Given the description of an element on the screen output the (x, y) to click on. 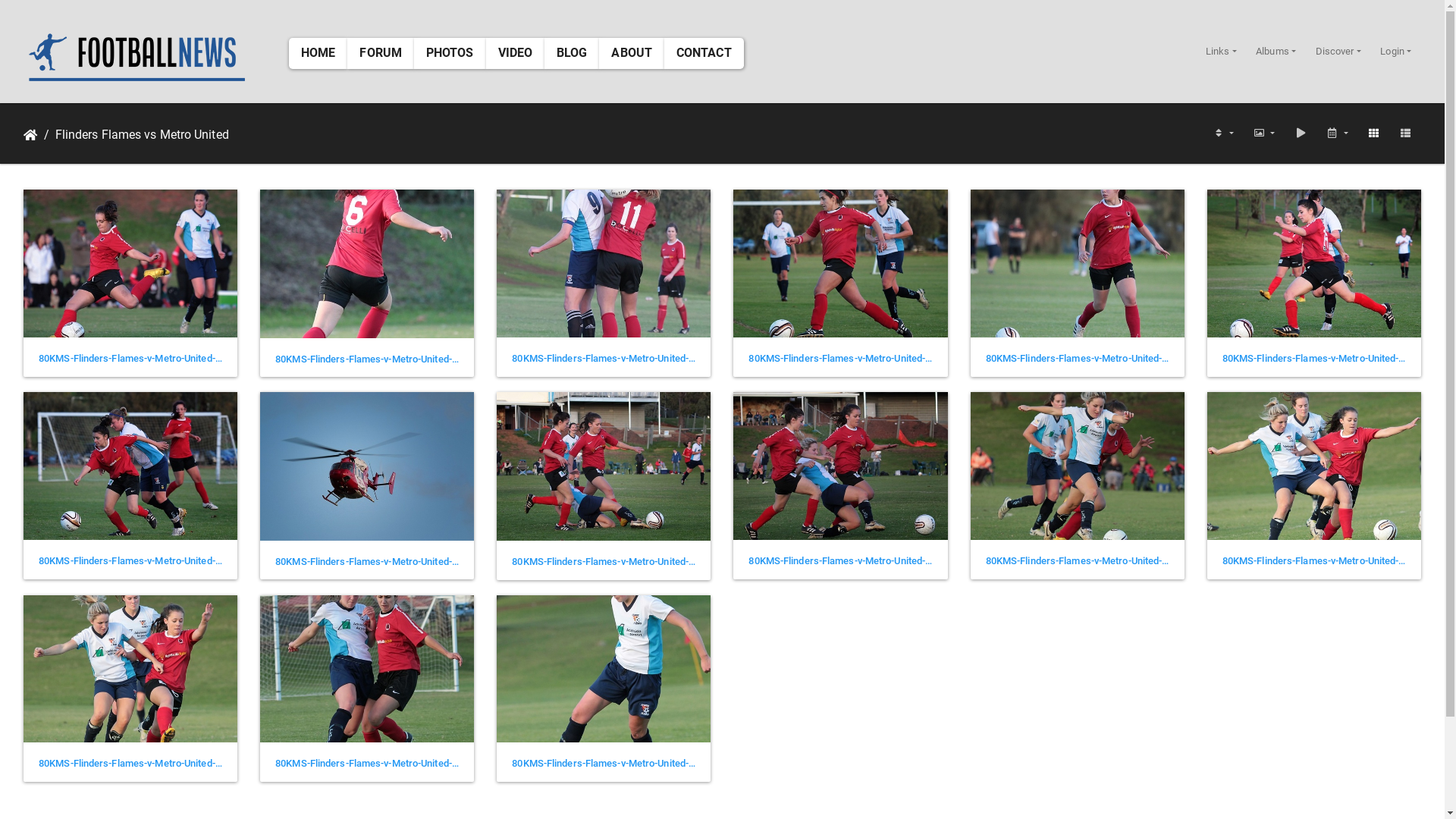
CONTACT Element type: text (703, 52)
Flinders Flames vs Metro United Element type: text (133, 134)
ABOUT Element type: text (631, 52)
80KMS-Flinders-Flames-v-Metro-United-11466.jpg (396 visits) Element type: hover (1077, 263)
Albums Element type: text (1275, 51)
80KMS-Flinders-Flames-v-Metro-United-11466.jpg Element type: text (1077, 358)
80KMS-Flinders-Flames-v-Metro-United-11306.jpg Element type: text (130, 763)
FORUM Element type: text (380, 52)
Photo sizes Element type: hover (1263, 133)
80KMS-Flinders-Flames-v-Metro-United-11562.jpg Element type: text (130, 358)
Sort order Element type: hover (1222, 133)
80KMS-Flinders-Flames-v-Metro-United-11410.jpg Element type: text (130, 561)
List view Element type: hover (1405, 133)
Login Element type: text (1396, 51)
Links Element type: text (1220, 51)
Calendar Element type: hover (1336, 133)
80KMS-Flinders-Flames-v-Metro-United-11274.jpg (373 visits) Element type: hover (603, 669)
80KMS-Flinders-Flames-v-Metro-United-11307.jpg (395 visits) Element type: hover (1314, 465)
80KMS-Flinders-Flames-v-Metro-United-11506.jpg Element type: text (603, 358)
80KMS-Flinders-Flames-v-Metro-United-11410.jpg (382 visits) Element type: hover (130, 465)
80KMS-Flinders-Flames-v-Metro-United-11506.jpg (387 visits) Element type: hover (603, 263)
80KMS-Flinders-Flames-v-Metro-United-11562.jpg (448 visits) Element type: hover (130, 263)
80KMS-Flinders-Flames-v-Metro-United-11542.jpg Element type: text (366, 359)
BLOG Element type: text (571, 52)
80KMS-Flinders-Flames-v-Metro-United-11284.jpg Element type: text (366, 763)
Grid view Element type: hover (1373, 133)
80KMS-Flinders-Flames-v-Metro-United-11496.jpg (396 visits) Element type: hover (840, 263)
80KMS-Flinders-Flames-v-Metro-United-11284.jpg (374 visits) Element type: hover (366, 669)
80KMS-Flinders-Flames-v-Metro-United-11322.jpg (400 visits) Element type: hover (1077, 465)
80KMS-Flinders-Flames-v-Metro-United-11333.jpg (377 visits) Element type: hover (840, 465)
80KMS-Flinders-Flames-v-Metro-United-11542.jpg (368 visits) Element type: hover (366, 263)
slideshow Element type: hover (1300, 133)
80KMS-Flinders-Flames-v-Metro-United-11334.jpg (394 visits) Element type: hover (603, 466)
80KMS-Flinders-Flames-v-Metro-United-11334.jpg Element type: text (603, 561)
80KMS-Flinders-Flames-v-Metro-United-11333.jpg Element type: text (839, 561)
80KMS-Flinders-Flames-v-Metro-United-11366.jpg Element type: text (366, 561)
PHOTOS Element type: text (450, 52)
80KMS-Flinders-Flames-v-Metro-United-11366.jpg (407 visits) Element type: hover (366, 465)
VIDEO Element type: text (515, 52)
80KMS-Flinders-Flames-v-Metro-United-11496.jpg Element type: text (839, 358)
80KMS-Flinders-Flames-v-Metro-United-11306.jpg (393 visits) Element type: hover (130, 669)
80KMS-Flinders-Flames-v-Metro-United-11428.jpg (425 visits) Element type: hover (1314, 263)
Discover Element type: text (1338, 51)
80KMS-Flinders-Flames-v-Metro-United-11322.jpg Element type: text (1077, 561)
80KMS-Flinders-Flames-v-Metro-United-11307.jpg Element type: text (1313, 561)
Home Element type: text (30, 134)
HOME Element type: text (317, 52)
80KMS-Flinders-Flames-v-Metro-United-11428.jpg Element type: text (1313, 358)
80KMS-Flinders-Flames-v-Metro-United-11274.jpg Element type: text (603, 763)
